Given the description of an element on the screen output the (x, y) to click on. 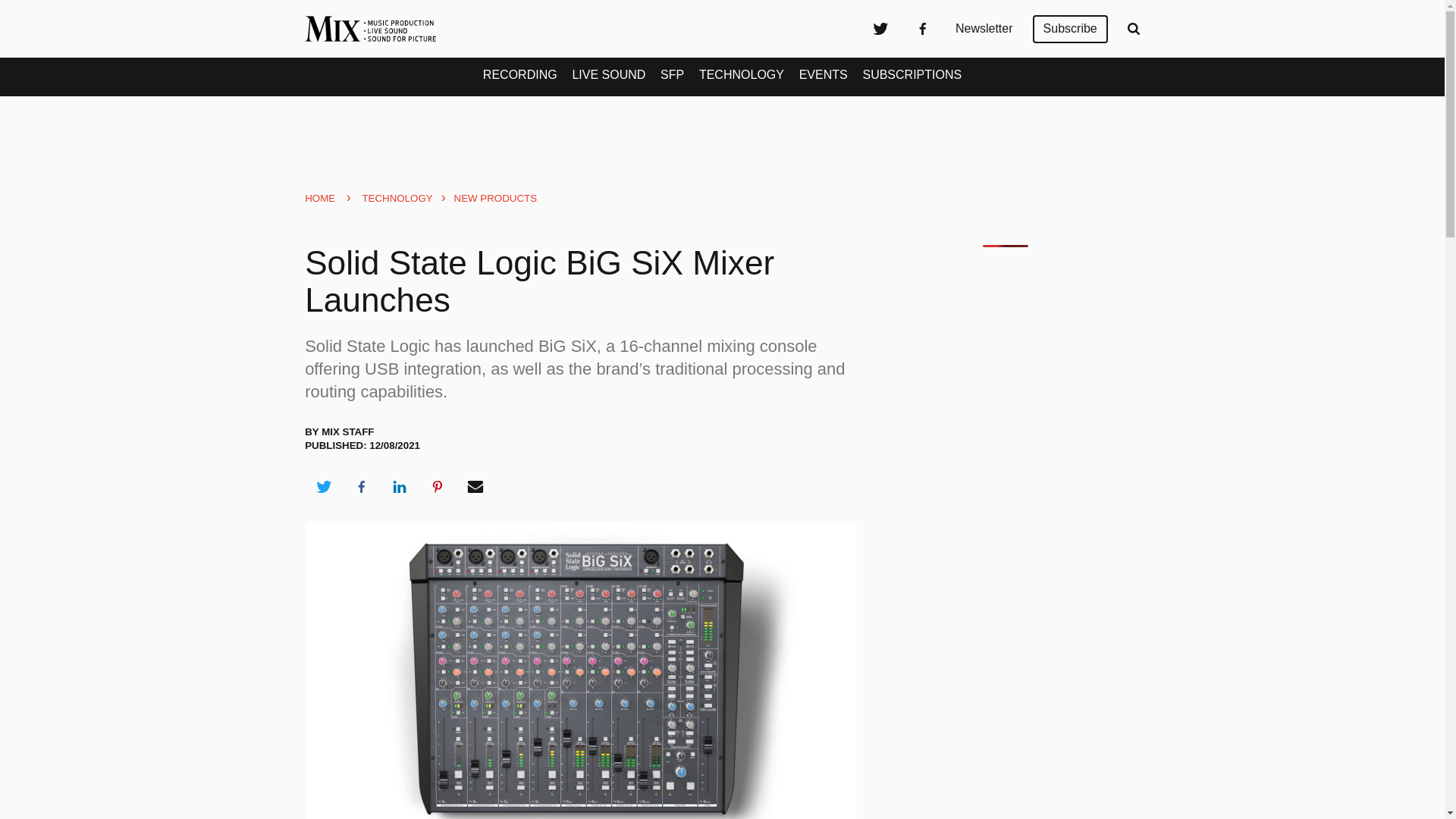
Share on Twitter (323, 486)
Share on Pinterest (438, 486)
Share on Facebook (361, 486)
Share on LinkedIn (399, 486)
Share via Email (476, 486)
